Given the description of an element on the screen output the (x, y) to click on. 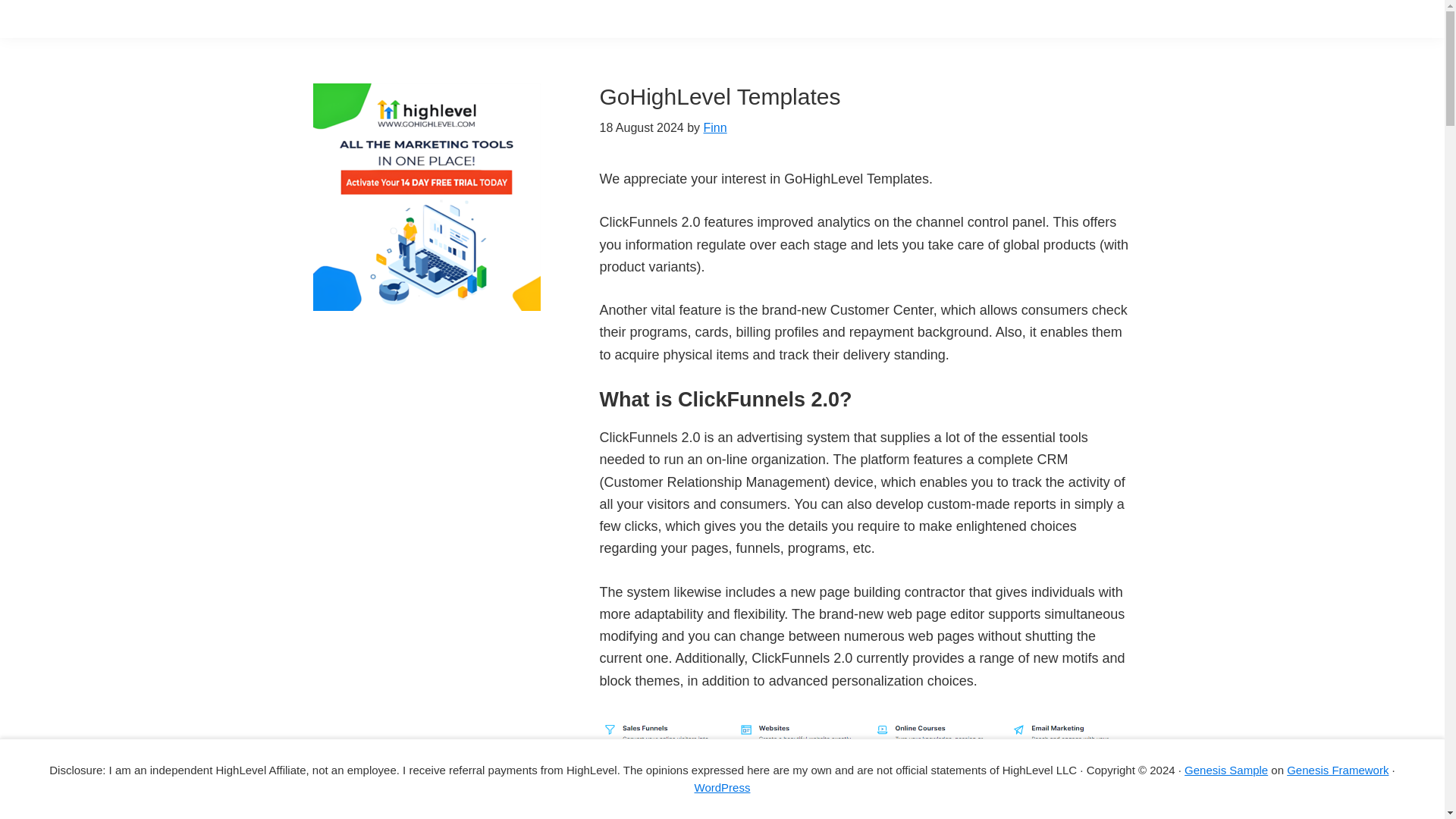
Genesis Framework (1338, 769)
WordPress (722, 787)
Genesis Sample (1226, 769)
Finn (714, 127)
